Given the description of an element on the screen output the (x, y) to click on. 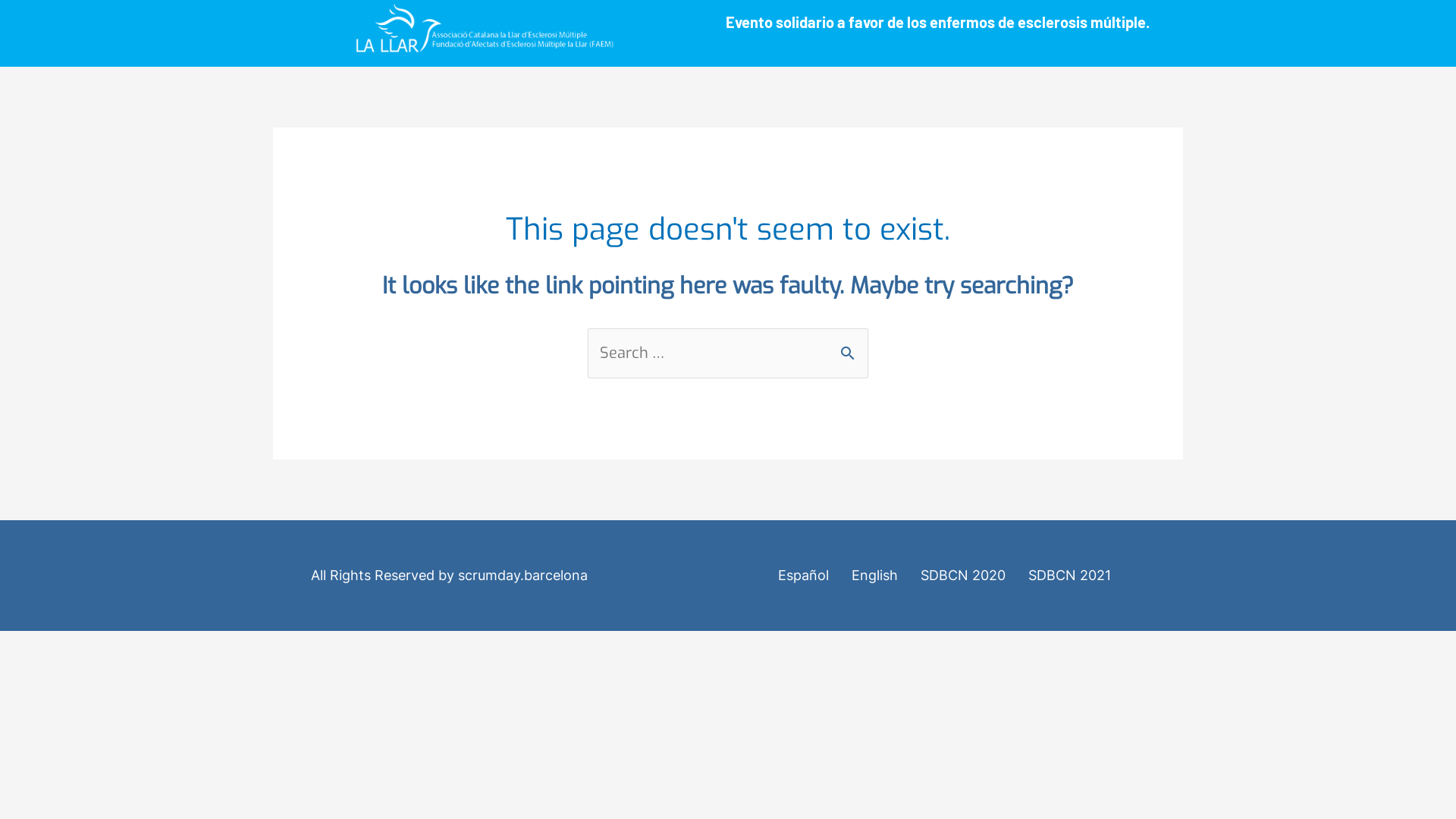
SDBCN 2021 Element type: text (1068, 575)
Search Element type: text (851, 345)
SDBCN 2020 Element type: text (962, 575)
English Element type: text (874, 575)
scrumday.barcelona Element type: text (522, 575)
